Given the description of an element on the screen output the (x, y) to click on. 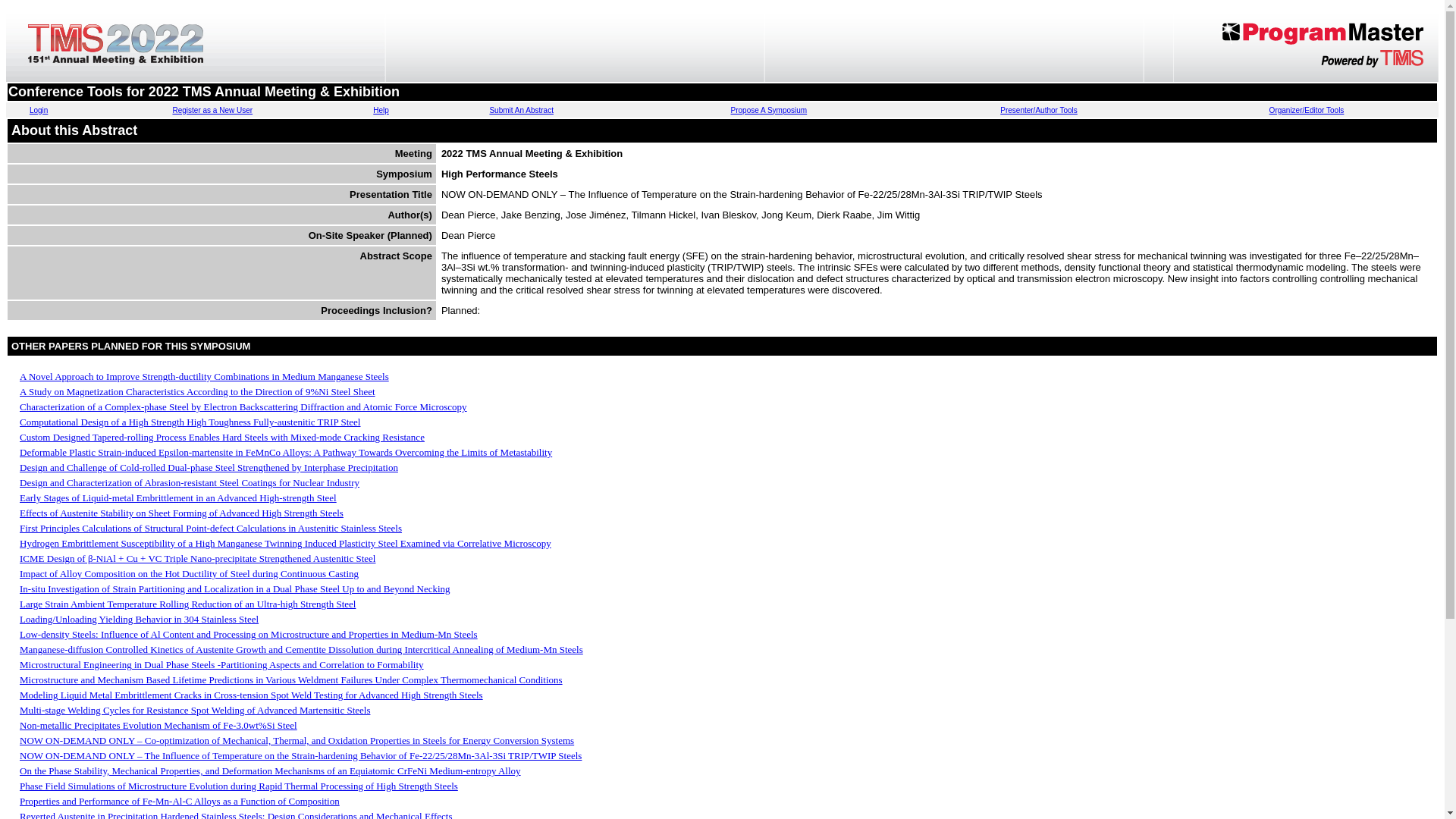
Propose A Symposium (769, 110)
